Given the description of an element on the screen output the (x, y) to click on. 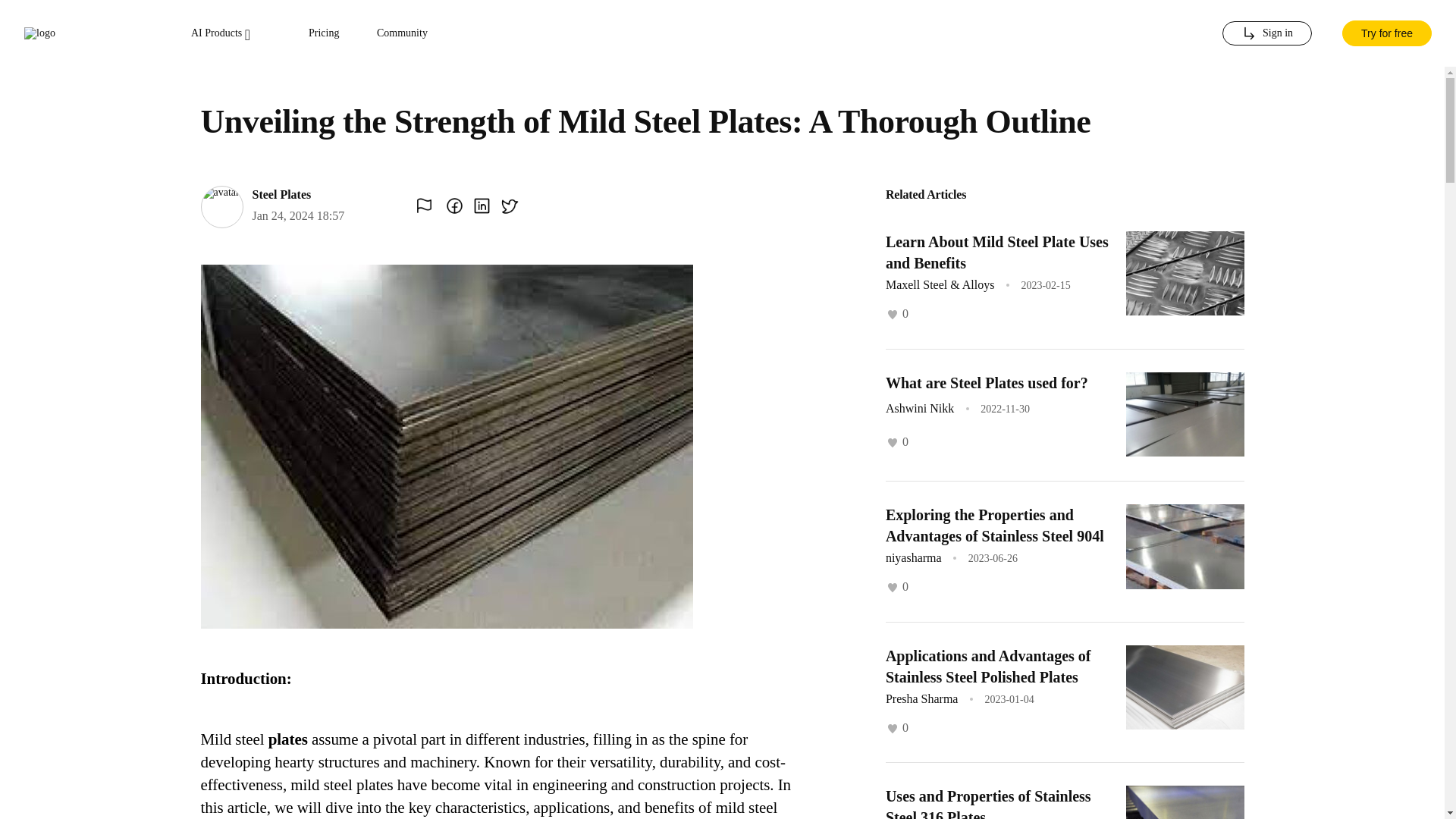
Learn About Mild Steel Plate Uses and Benefits (996, 252)
Uses and Properties of Stainless Steel 316 Plates (987, 803)
Community (402, 33)
Pricing (323, 33)
Try for free (1386, 32)
What are Steel Plates used for? (986, 382)
 Sign in (1267, 33)
